Given the description of an element on the screen output the (x, y) to click on. 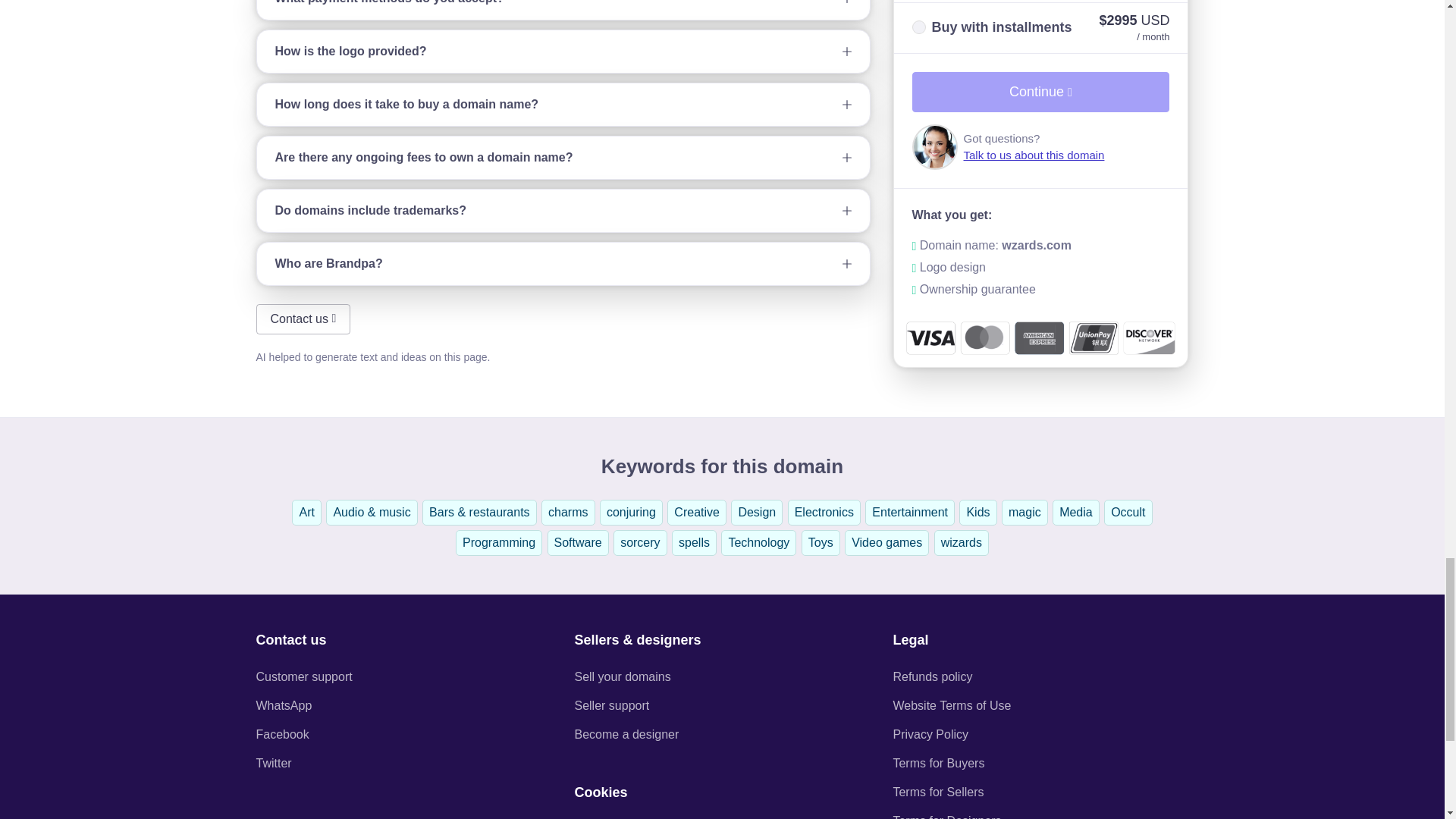
How long does it take to buy a domain name? (562, 104)
Are there any ongoing fees to own a domain name? (562, 157)
Do domains include trademarks? (562, 210)
What payment methods do you accept? (562, 9)
Who are Brandpa? (562, 263)
How is the logo provided? (562, 51)
